Given the description of an element on the screen output the (x, y) to click on. 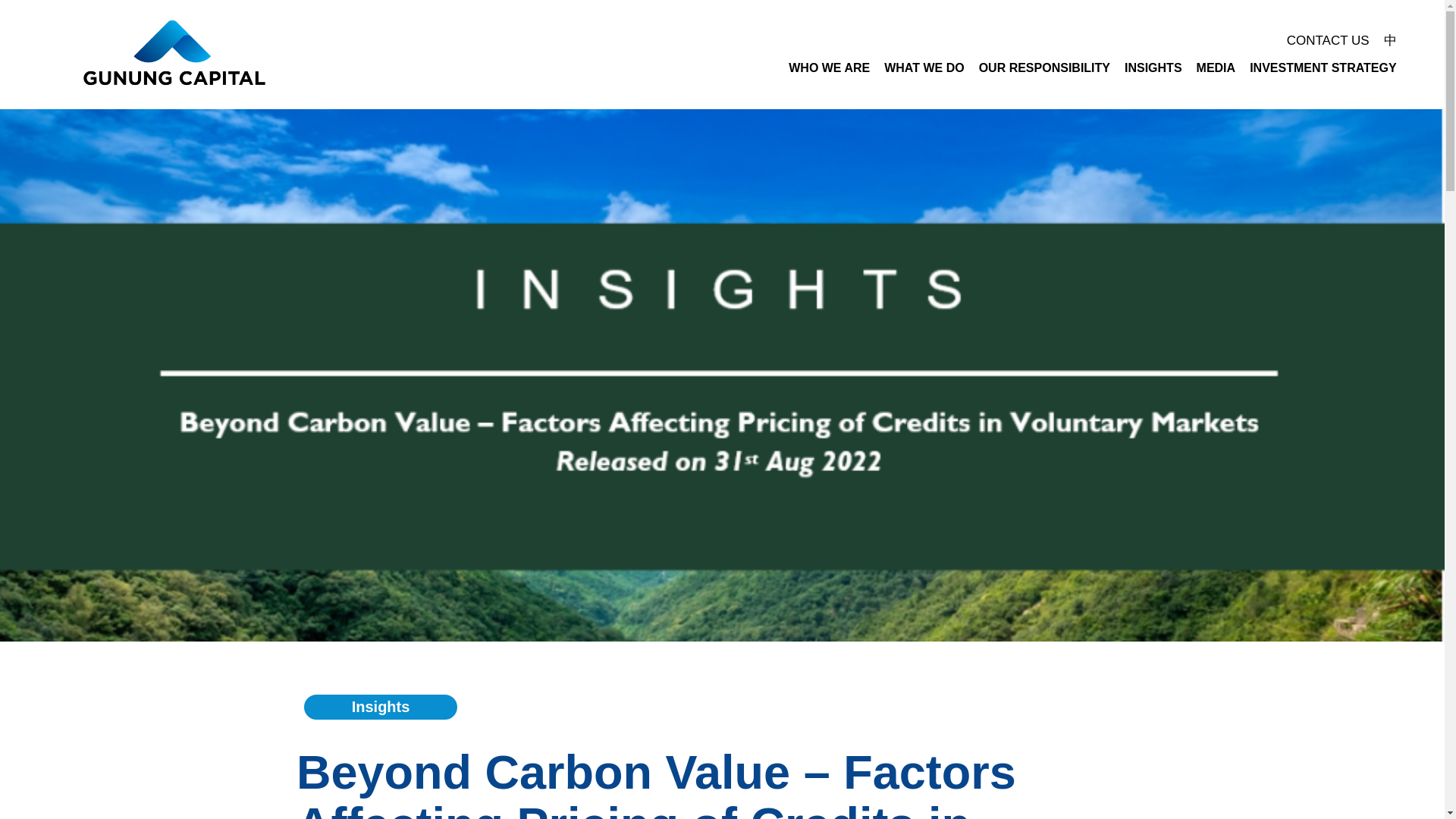
MEDIA (1216, 68)
INVESTMENT STRATEGY (1323, 68)
INSIGHTS (1153, 68)
Insights (381, 706)
WHO WE ARE (829, 68)
CONTACT US (1327, 40)
WHAT WE DO (924, 68)
OUR RESPONSIBILITY (1044, 68)
